Given the description of an element on the screen output the (x, y) to click on. 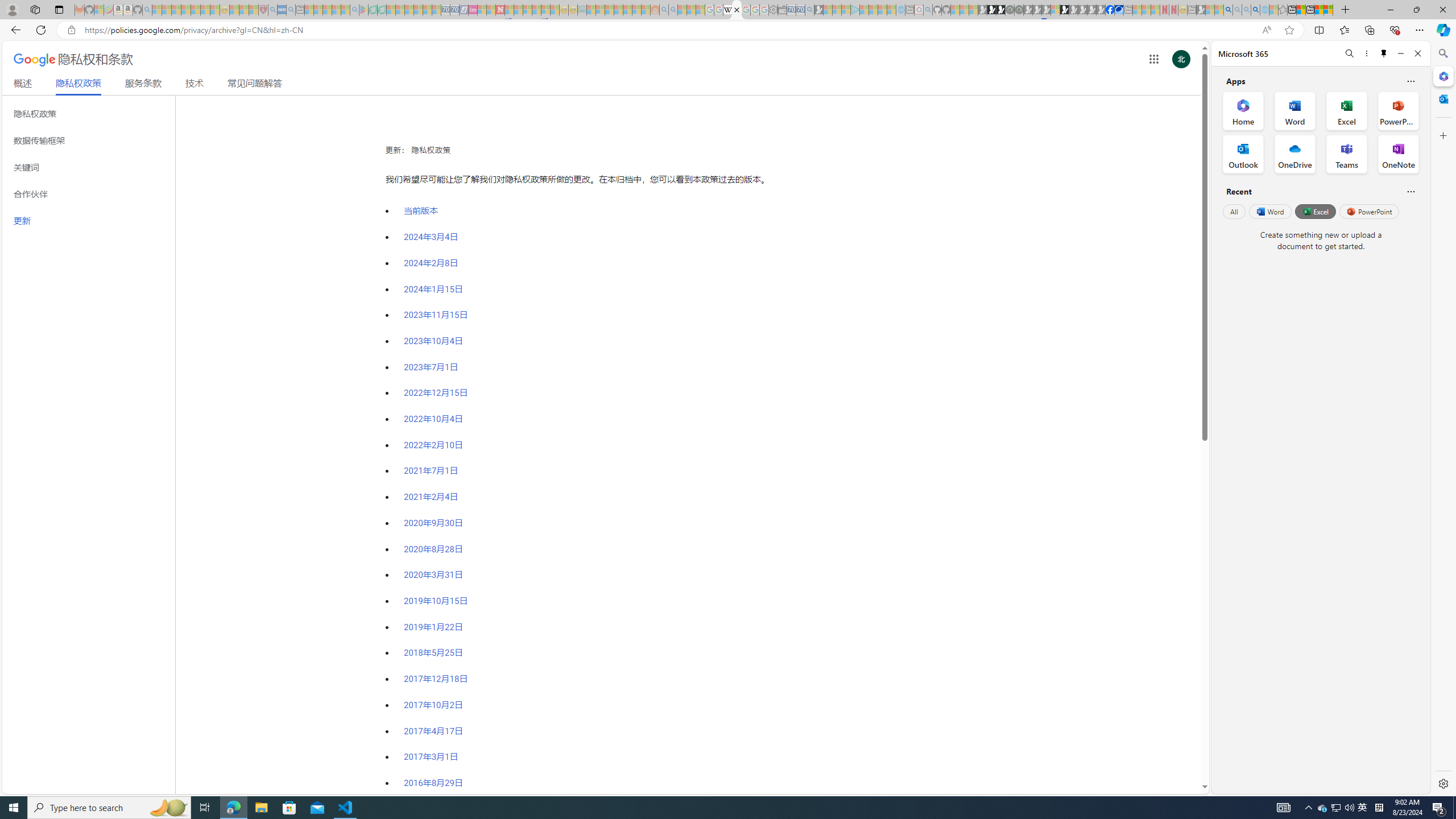
PowerPoint (1369, 210)
Bing Real Estate - Home sales and rental listings - Sleeping (809, 9)
New Report Confirms 2023 Was Record Hot | Watch - Sleeping (195, 9)
PowerPoint Office App (1398, 110)
